Given the description of an element on the screen output the (x, y) to click on. 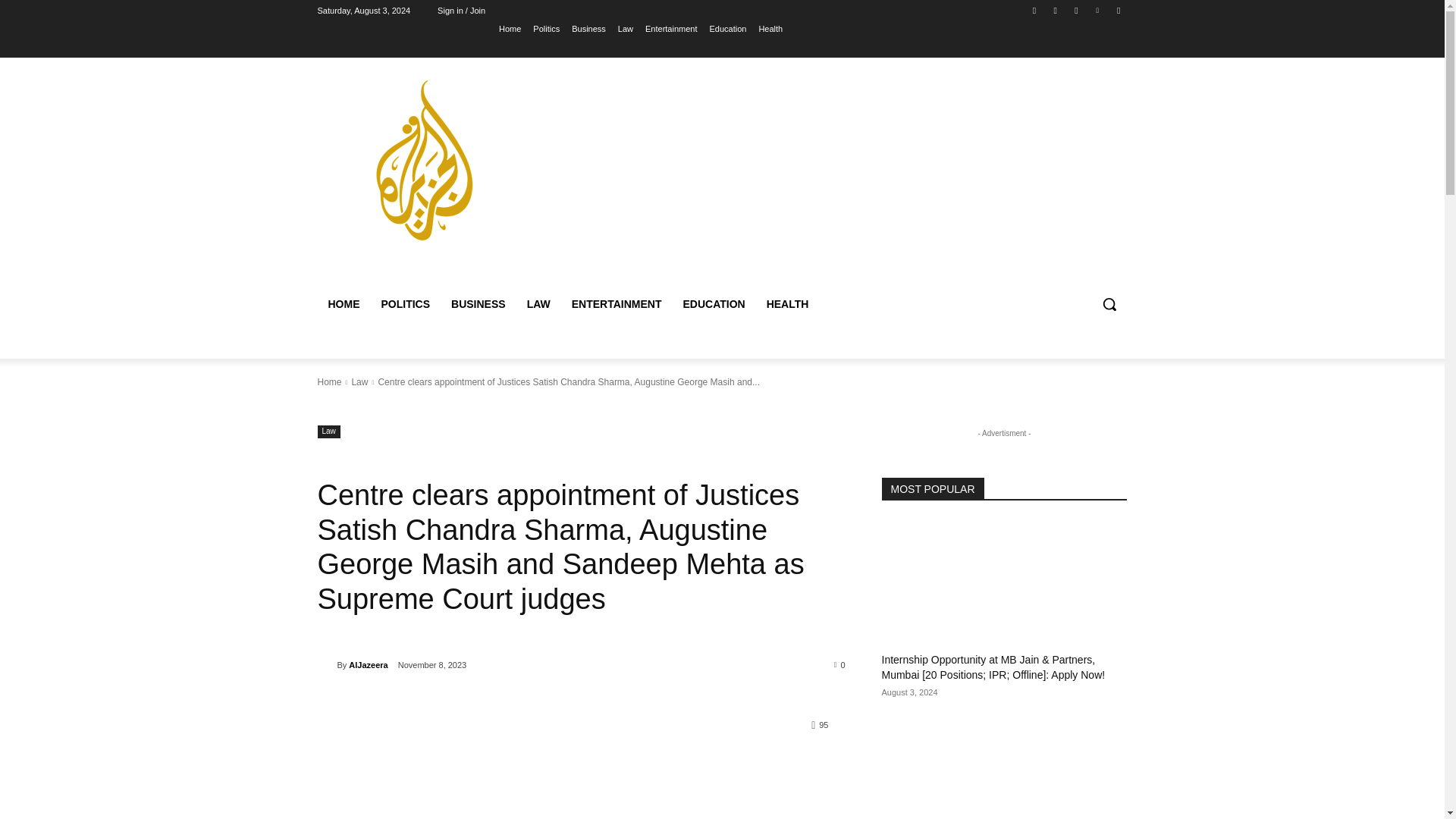
AlJazeera (368, 664)
Home (510, 28)
View all posts in Law (359, 381)
Business (588, 28)
Law (359, 381)
HEALTH (787, 303)
0 (839, 664)
HOME (343, 303)
Entertainment (671, 28)
AlJazeera (326, 664)
Law (328, 431)
EDUCATION (713, 303)
ENTERTAINMENT (616, 303)
Health (770, 28)
Twitter (1075, 9)
